Given the description of an element on the screen output the (x, y) to click on. 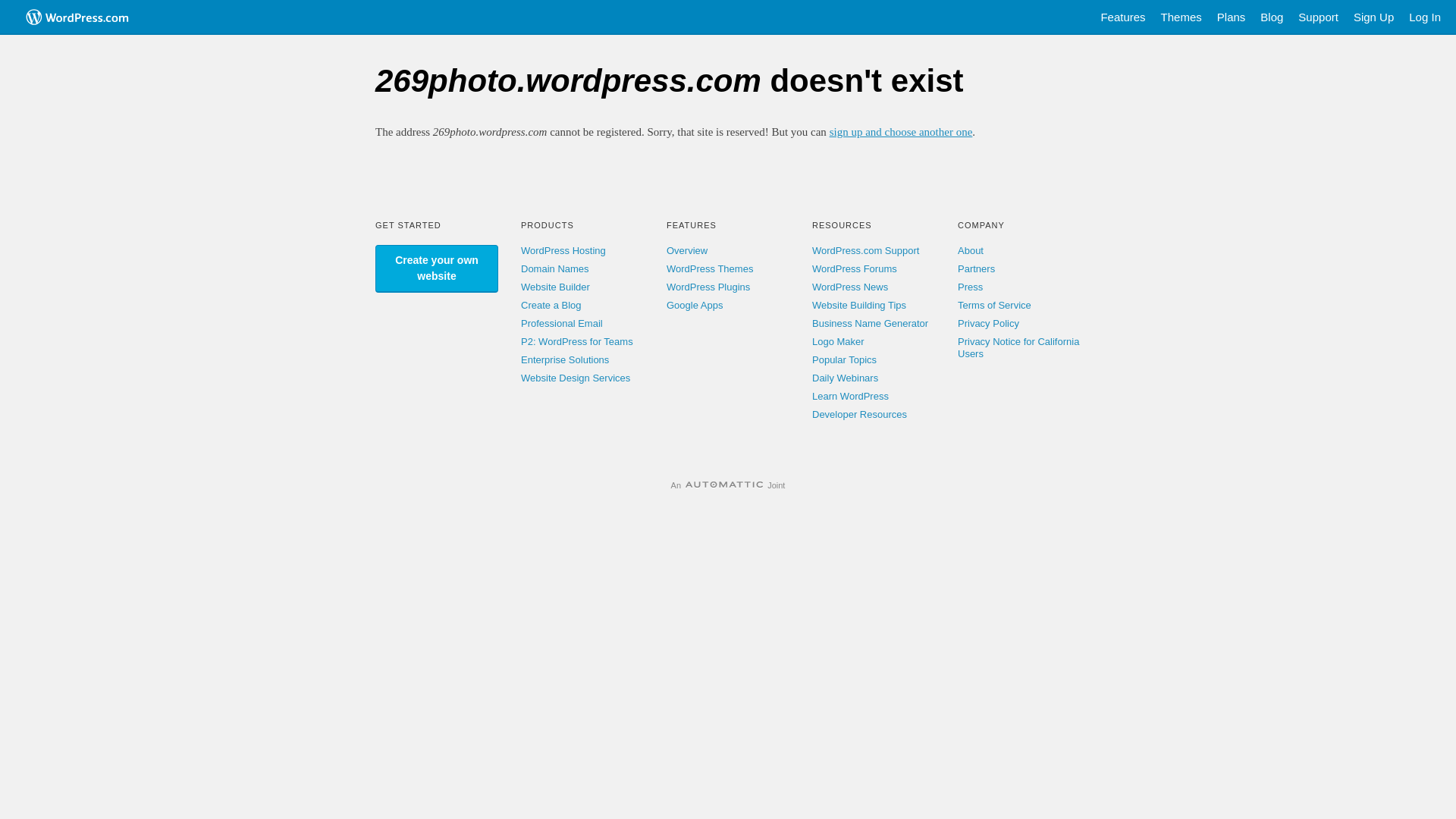
Partners Element type: text (975, 268)
Developer Resources Element type: text (859, 414)
Professional Email Element type: text (561, 323)
Automattic Element type: text (723, 485)
WordPress News Element type: text (850, 286)
Features Element type: text (1122, 17)
WordPress.com Support Element type: text (865, 250)
Business Name Generator Element type: text (870, 323)
Logo Maker Element type: text (838, 341)
Website Design Services Element type: text (575, 377)
Support Element type: text (1318, 17)
Create a Blog Element type: text (550, 304)
Learn WordPress Element type: text (850, 395)
Google Apps Element type: text (694, 304)
Sign Up Element type: text (1373, 17)
Log In Element type: text (1424, 17)
WordPress Plugins Element type: text (707, 286)
Terms of Service Element type: text (994, 304)
P2: WordPress for Teams Element type: text (576, 341)
Privacy Policy Element type: text (988, 323)
Blog Element type: text (1271, 17)
Enterprise Solutions Element type: text (564, 359)
Website Building Tips Element type: text (859, 304)
Press Element type: text (969, 286)
Create your own website Element type: text (436, 268)
Popular Topics Element type: text (844, 359)
Overview Element type: text (686, 250)
WordPress Themes Element type: text (709, 268)
WordPress Hosting Element type: text (562, 250)
Daily Webinars Element type: text (845, 377)
Themes Element type: text (1181, 17)
About Element type: text (970, 250)
Plans Element type: text (1231, 17)
WordPress Forums Element type: text (854, 268)
Privacy Notice for California Users Element type: text (1018, 347)
sign up and choose another one Element type: text (900, 131)
Domain Names Element type: text (554, 268)
Website Builder Element type: text (554, 286)
